Given the description of an element on the screen output the (x, y) to click on. 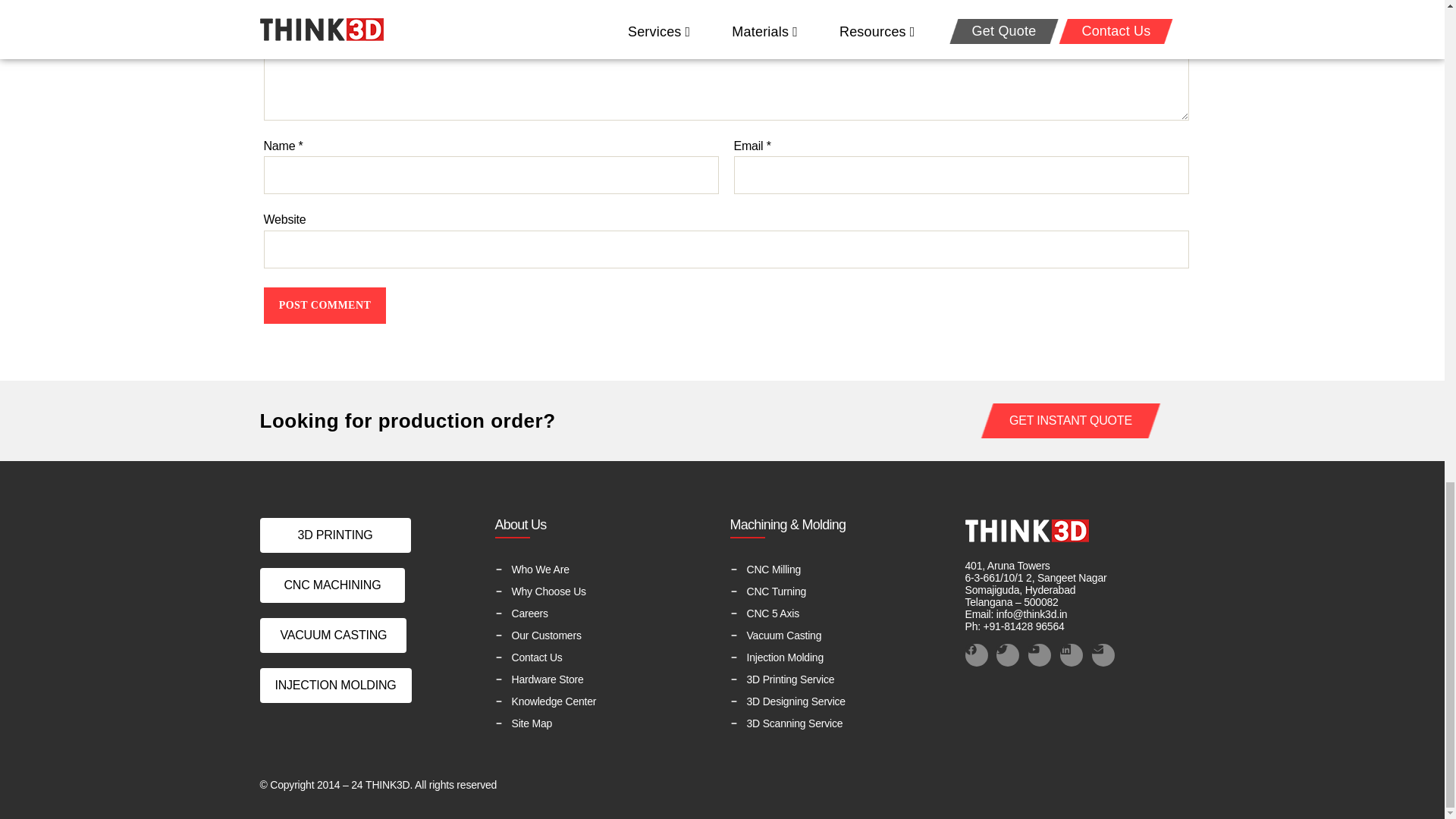
Post Comment (325, 305)
